Given the description of an element on the screen output the (x, y) to click on. 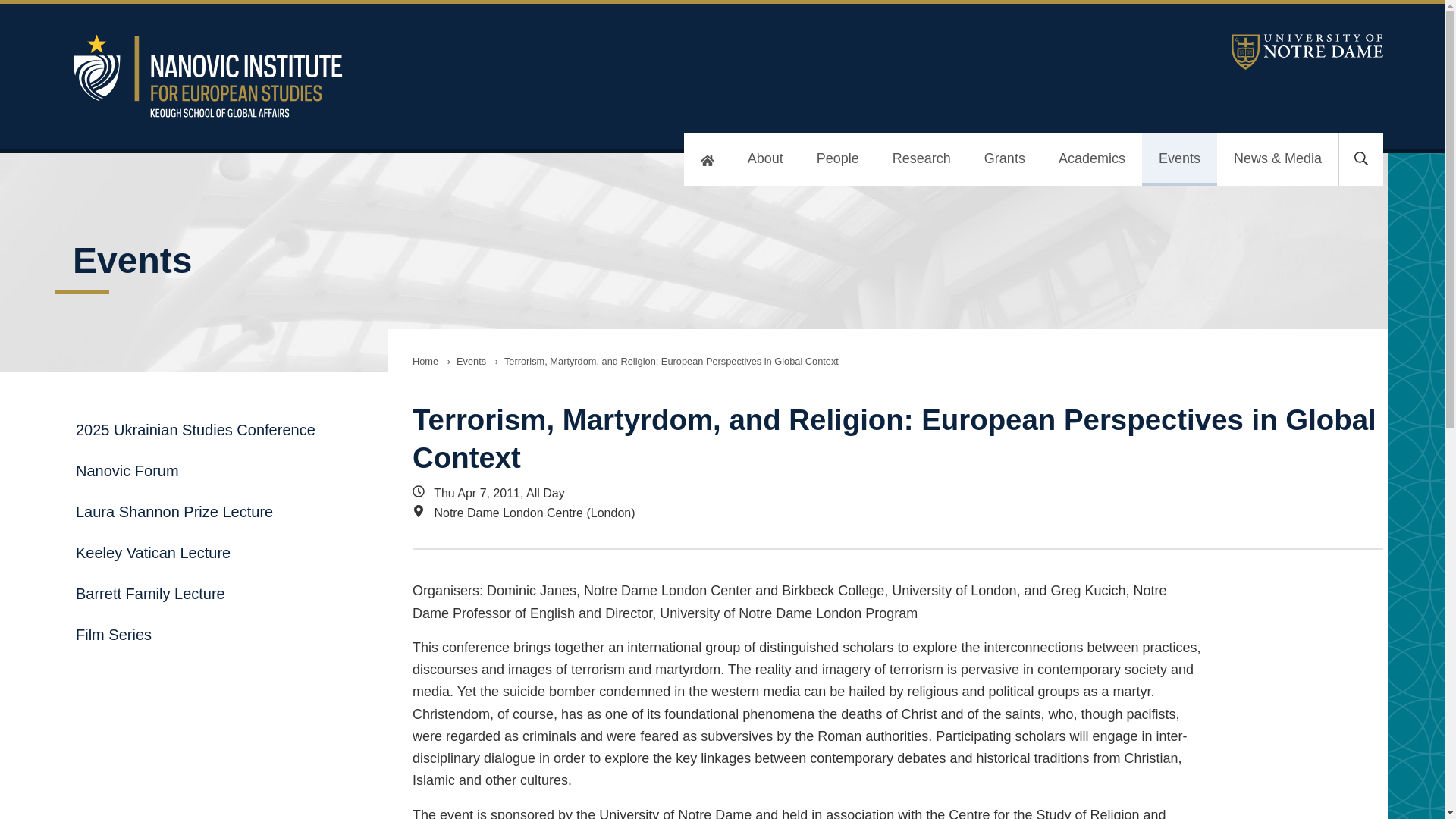
Home (425, 360)
Events (470, 360)
Thu Apr  7, 2011 12:00 am - 11:59 pm (806, 493)
People (837, 158)
Events (1179, 158)
Academics (1091, 158)
About (764, 158)
University of Notre Dame (1307, 51)
Nanovic Institute (466, 75)
Research (922, 158)
